Given the description of an element on the screen output the (x, y) to click on. 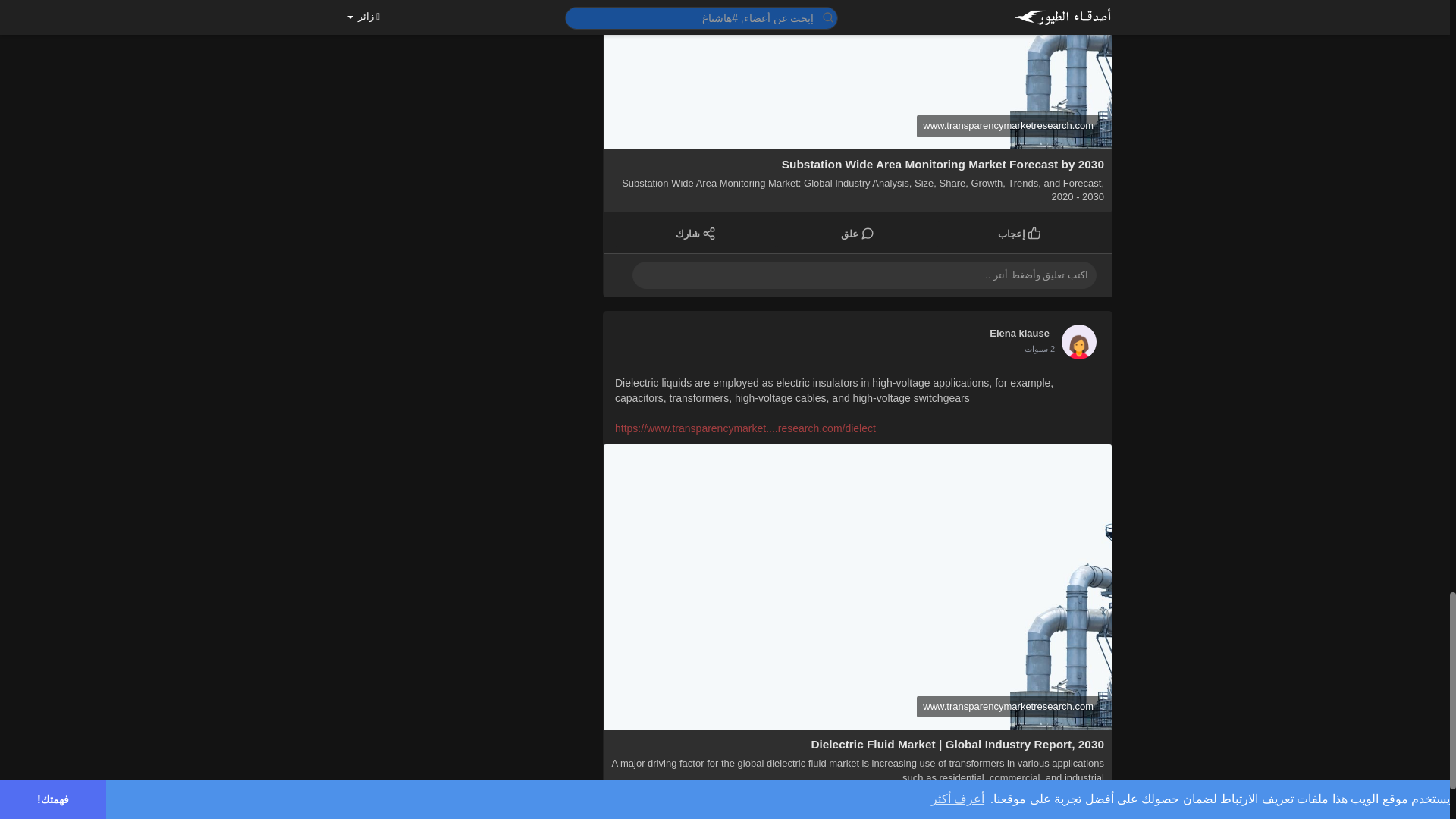
Elena klause (1019, 332)
